Given the description of an element on the screen output the (x, y) to click on. 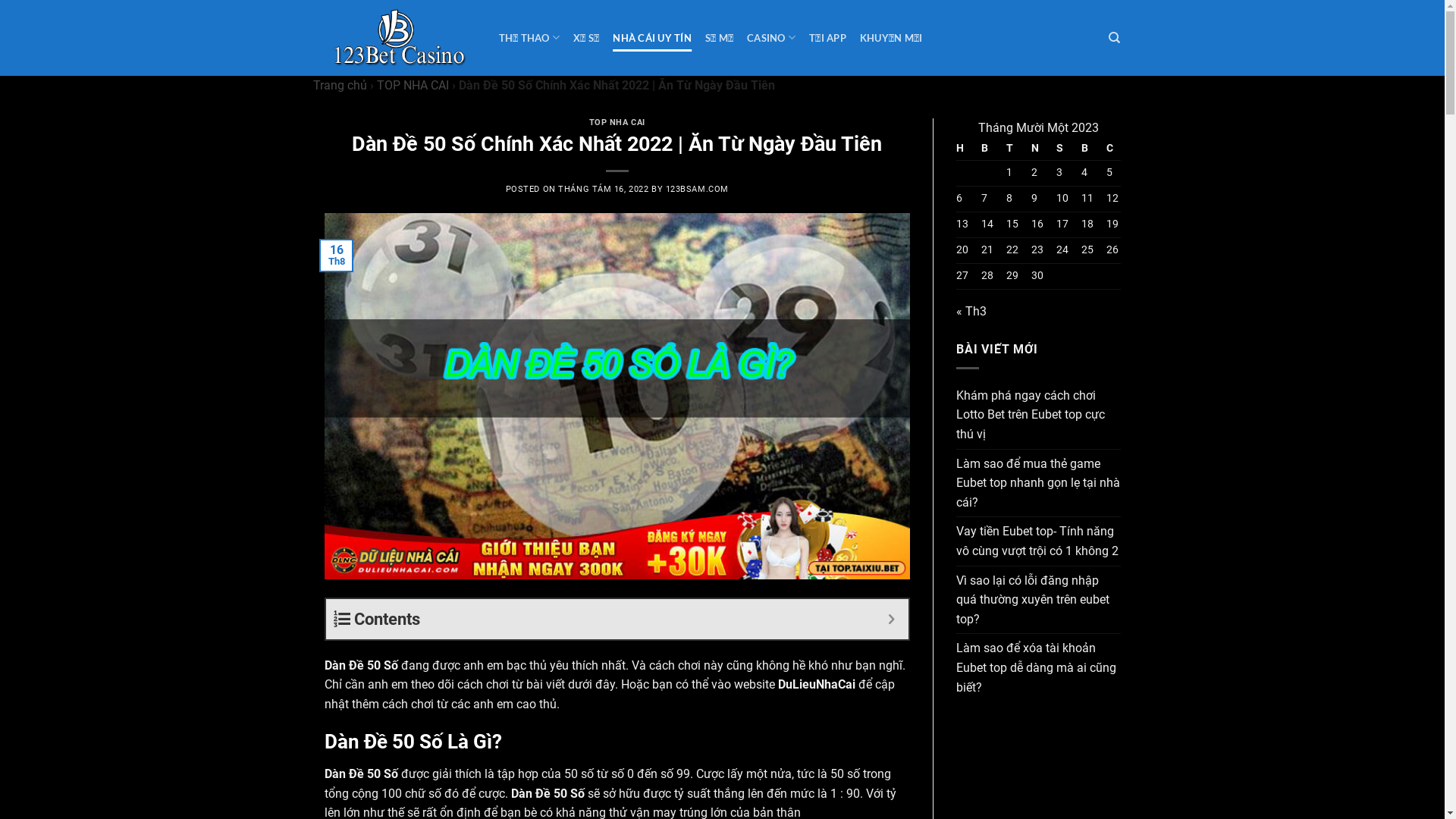
TOP NHA CAI Element type: text (617, 122)
CASINO Element type: text (770, 37)
TOP NHA CAI Element type: text (412, 85)
123BSAM.COM Element type: text (696, 189)
123BSAM - My WordPress Blog Element type: hover (400, 37)
